Given the description of an element on the screen output the (x, y) to click on. 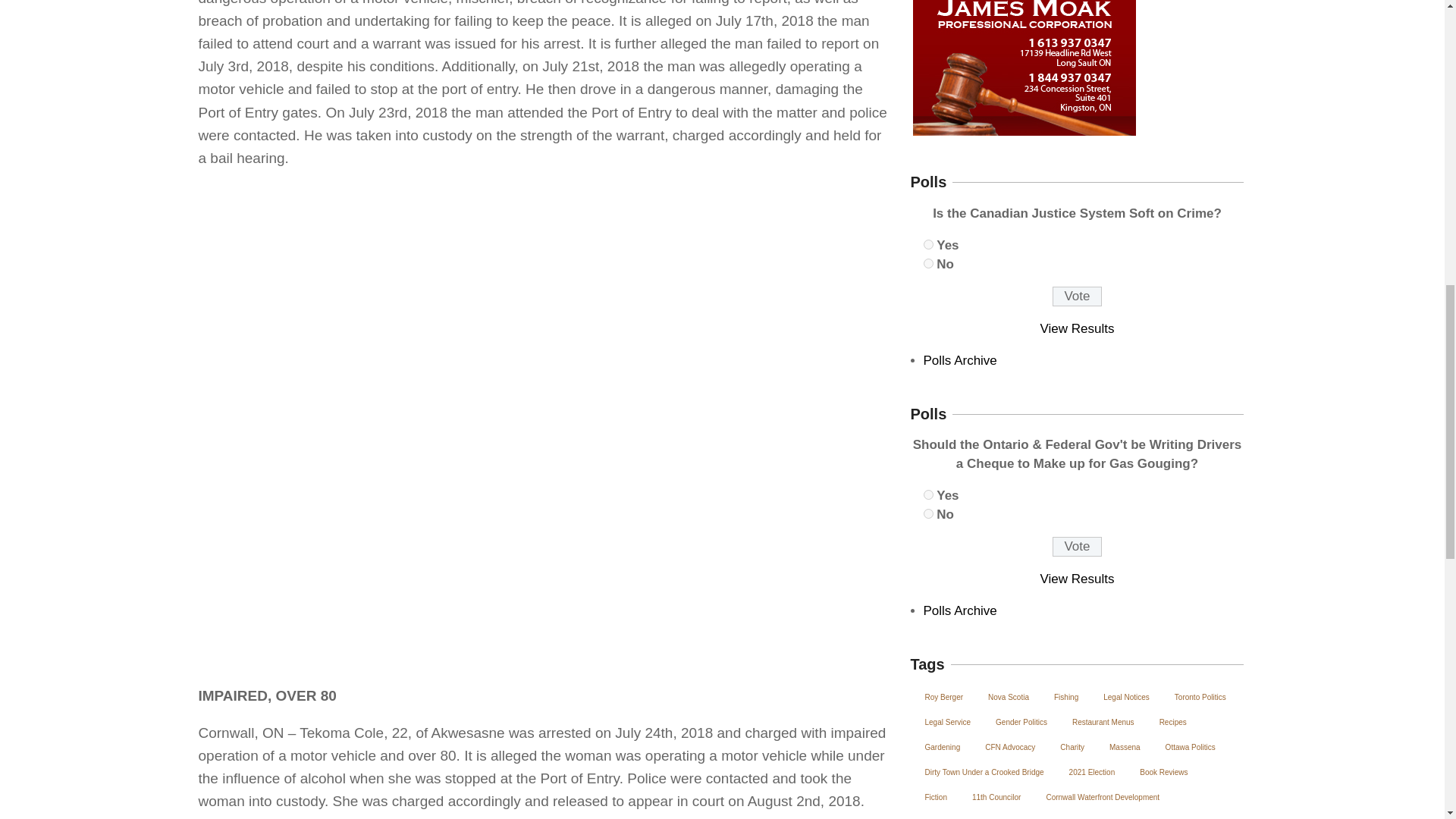
View Results Of This Poll (1078, 328)
   Vote    (1076, 296)
1763 (928, 513)
View Results Of This Poll (1078, 578)
1754 (928, 244)
   Vote    (1076, 546)
1762 (928, 494)
1755 (928, 263)
